Given the description of an element on the screen output the (x, y) to click on. 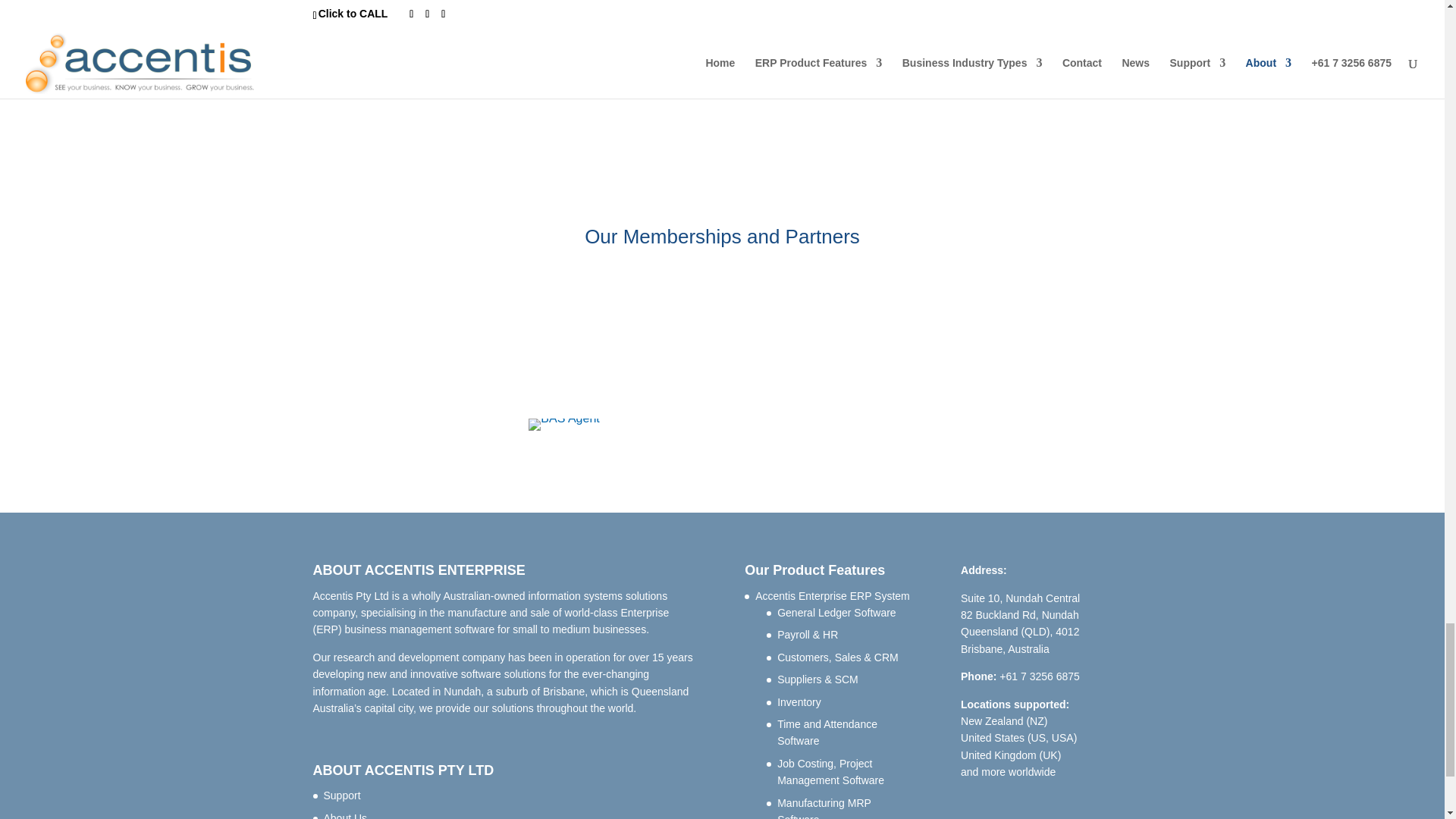
Accentis logo 600x165 (811, 19)
BAS Agent (563, 424)
